Given the description of an element on the screen output the (x, y) to click on. 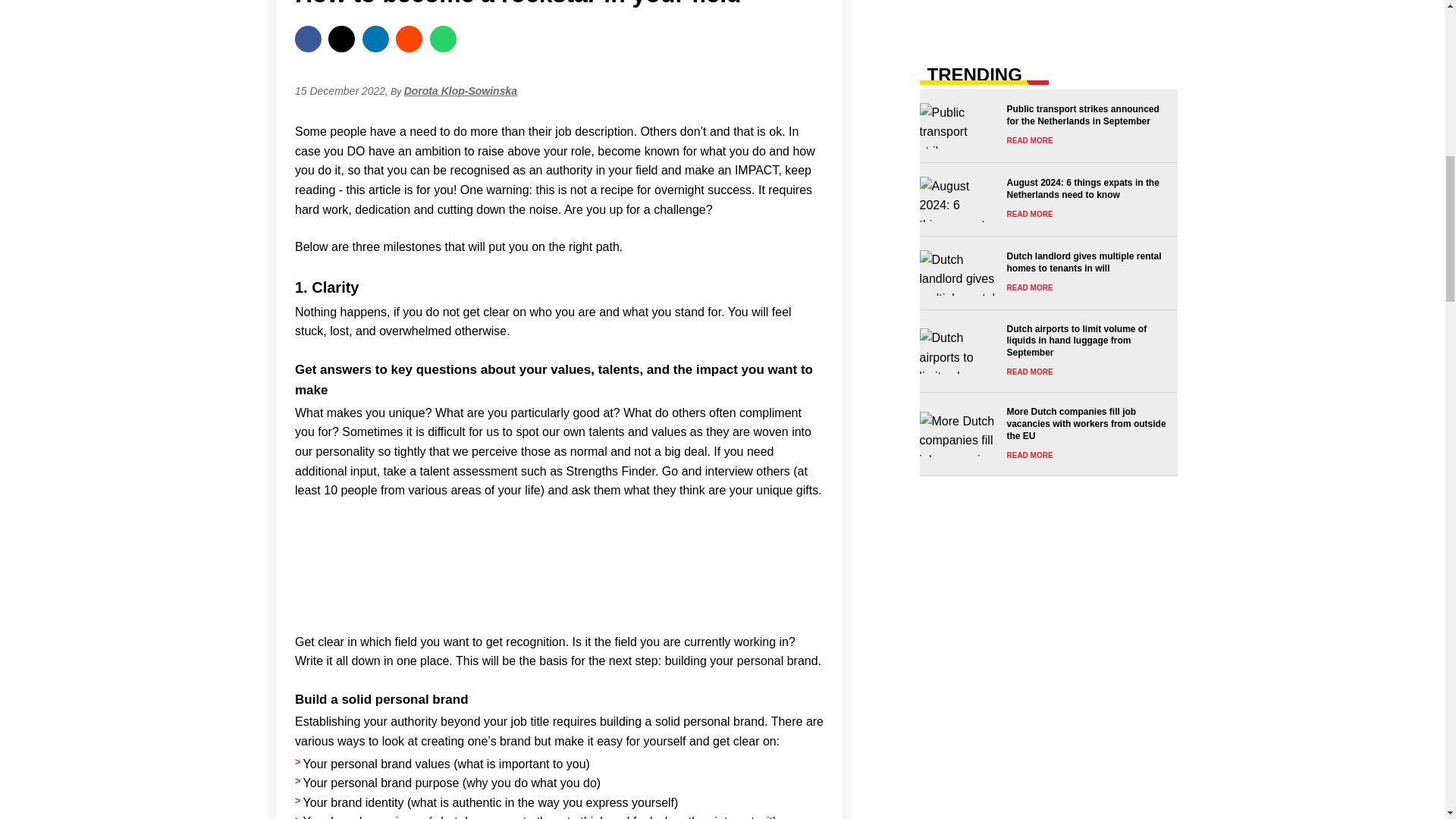
August 2024: 6 things expats in the Netherlands need to know (1043, 198)
3rd party ad content (559, 575)
3rd party ad content (1047, 12)
